Given the description of an element on the screen output the (x, y) to click on. 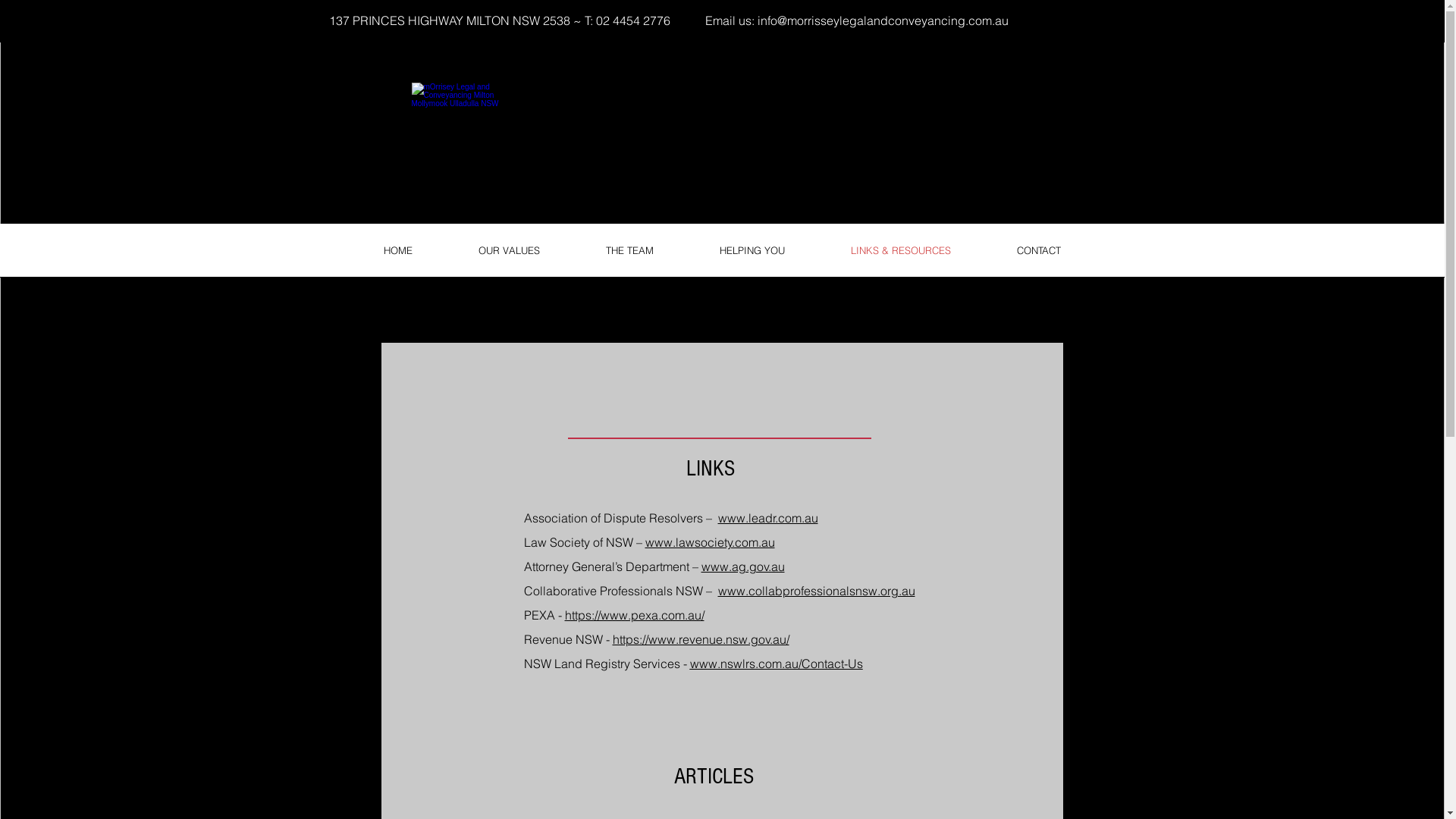
THE TEAM Element type: text (629, 250)
CONTACT Element type: text (1038, 250)
https://www.revenue.nsw.gov.au/ Element type: text (700, 638)
Screen Shot 2015-11-15 at 10.28.17 PM.png Element type: hover (456, 129)
LINKS & RESOURCES Element type: text (899, 250)
www.ag.gov.au Element type: text (742, 566)
www.nswlrs.com.au/Contact-Us Element type: text (776, 663)
HELPING YOU Element type: text (752, 250)
https://www.pexa.com.au/ Element type: text (633, 614)
HOME Element type: text (397, 250)
OUR VALUES Element type: text (508, 250)
www.lawsociety.com.au Element type: text (709, 541)
NSW Land Registry Services -  Element type: text (606, 663)
www.leadr.com.au Element type: text (767, 517)
www.collabprofessionalsnsw.org.au Element type: text (815, 590)
info@morrisseylegalandconveyancing.com.au Element type: text (881, 20)
